Given the description of an element on the screen output the (x, y) to click on. 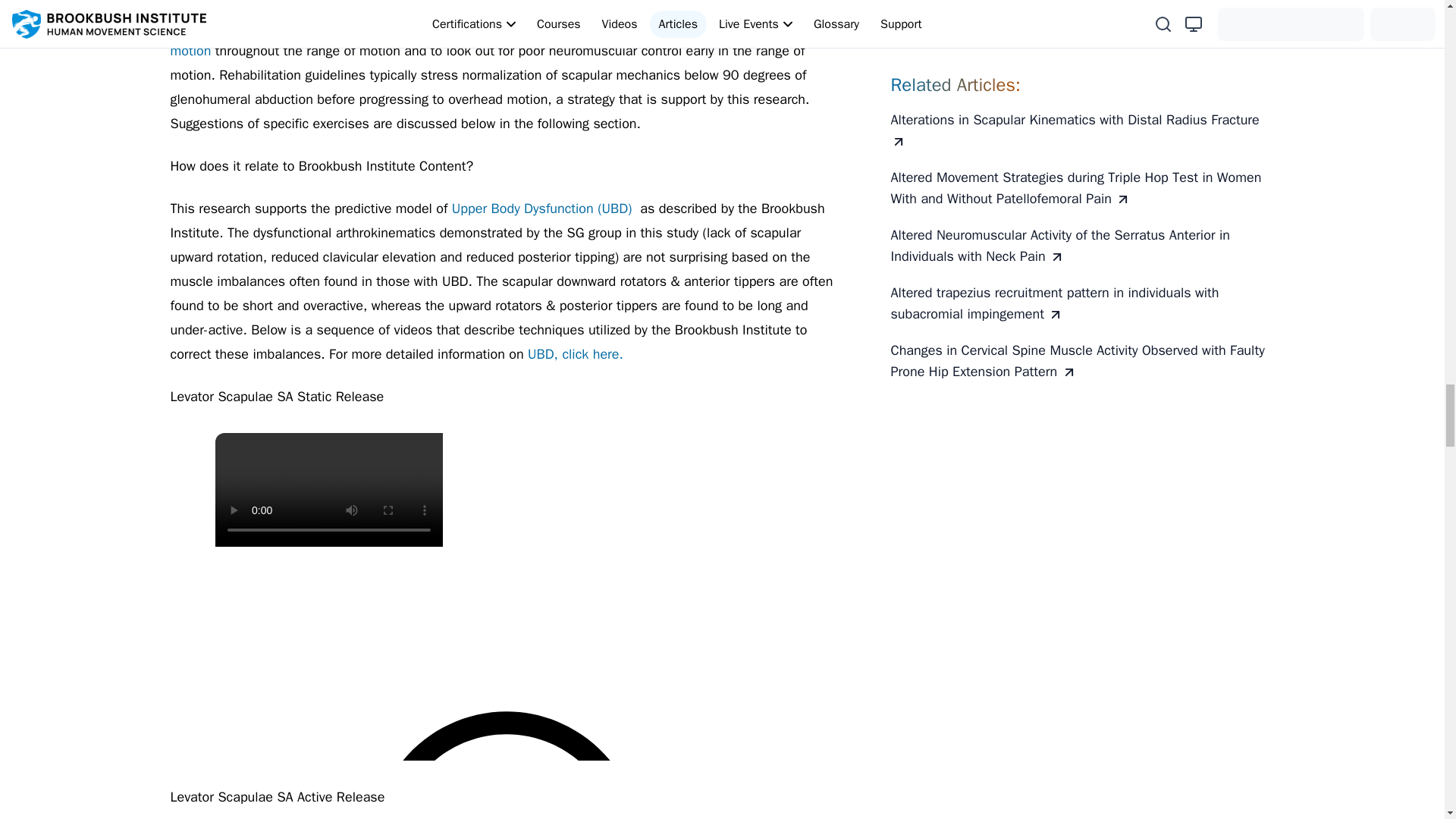
UBD, click here. (575, 353)
scapula motion (489, 38)
